Given the description of an element on the screen output the (x, y) to click on. 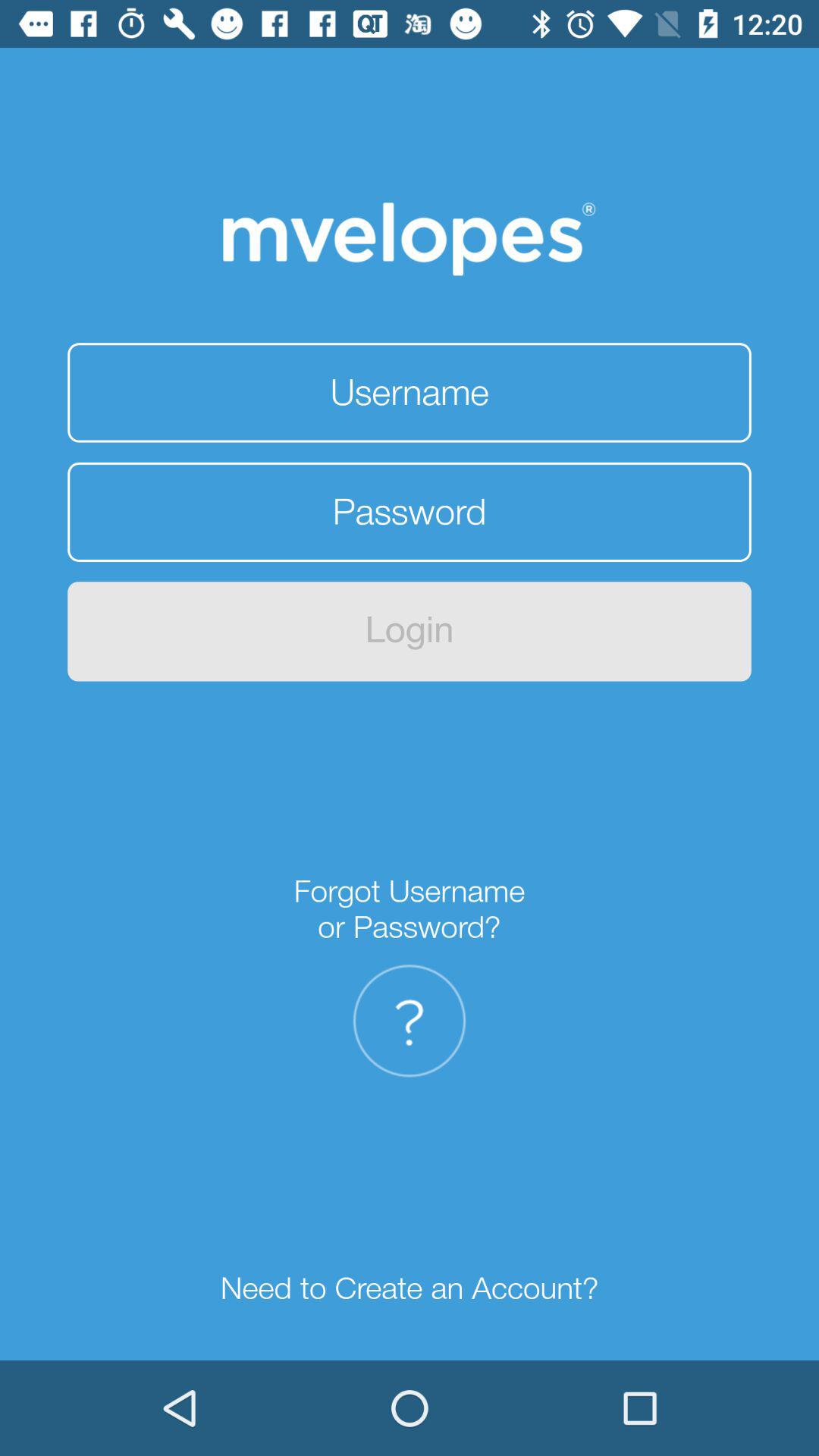
in case of forgotten username or password (409, 1020)
